Given the description of an element on the screen output the (x, y) to click on. 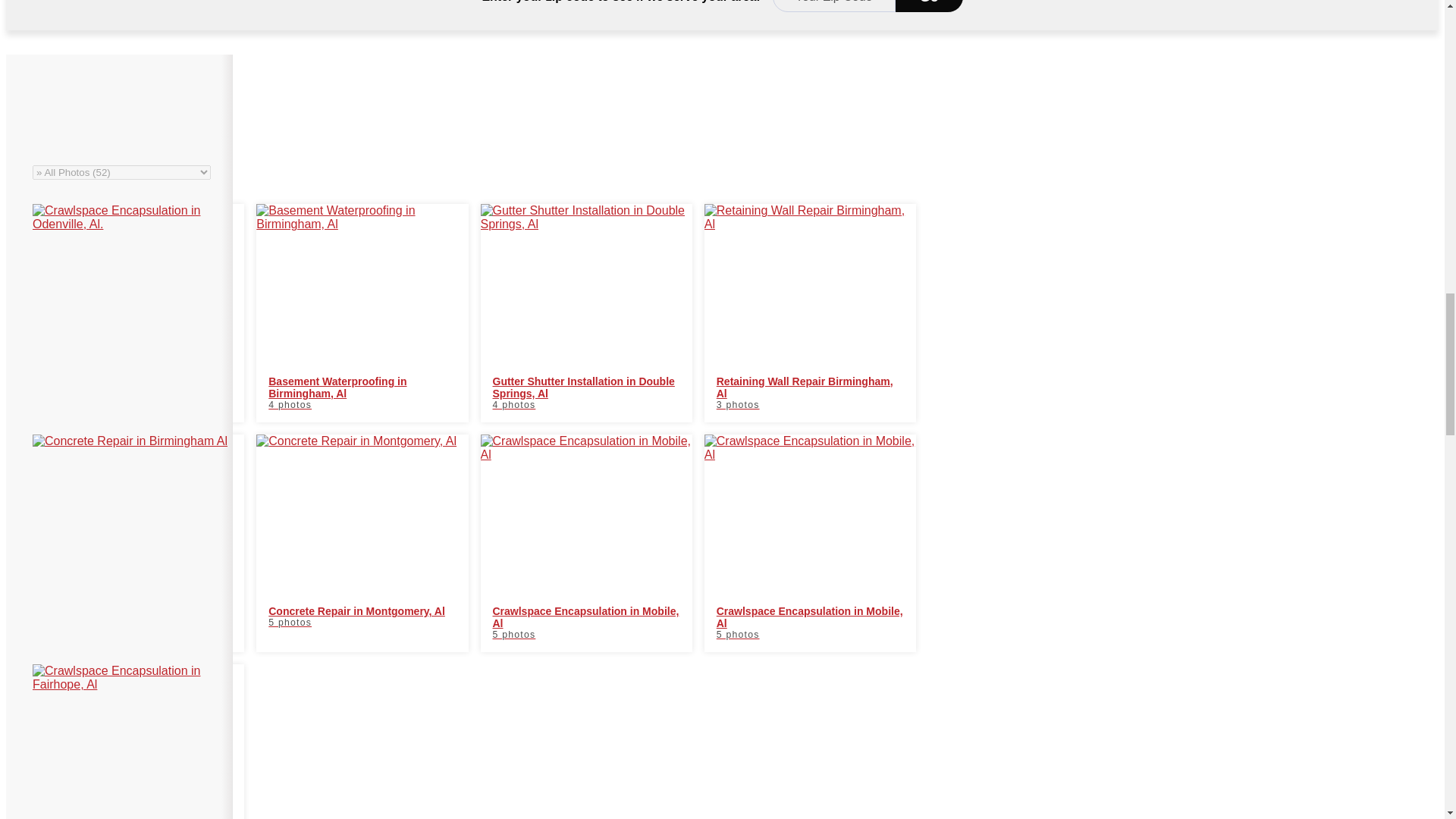
Crawlspace Encapsulation in Fairhope, Al (138, 741)
Please enter a valid ZIP code (834, 6)
Go (928, 6)
Basement Waterproofing in Birmingham, Al (361, 312)
Retaining Wall Repair Birmingham, Al (809, 312)
Concrete Repair in Montgomery, Al (361, 542)
Gutter Shutter Installation in Double Springs, Al (586, 312)
Crawlspace Encapsulation in Mobile, Al (586, 542)
Crawlspace Encapsulation in Mobile, Al (809, 542)
Concrete Repair in Birmingham Al (138, 542)
Crawlspace Encapsulation in Odenville, Al. (138, 312)
